Given the description of an element on the screen output the (x, y) to click on. 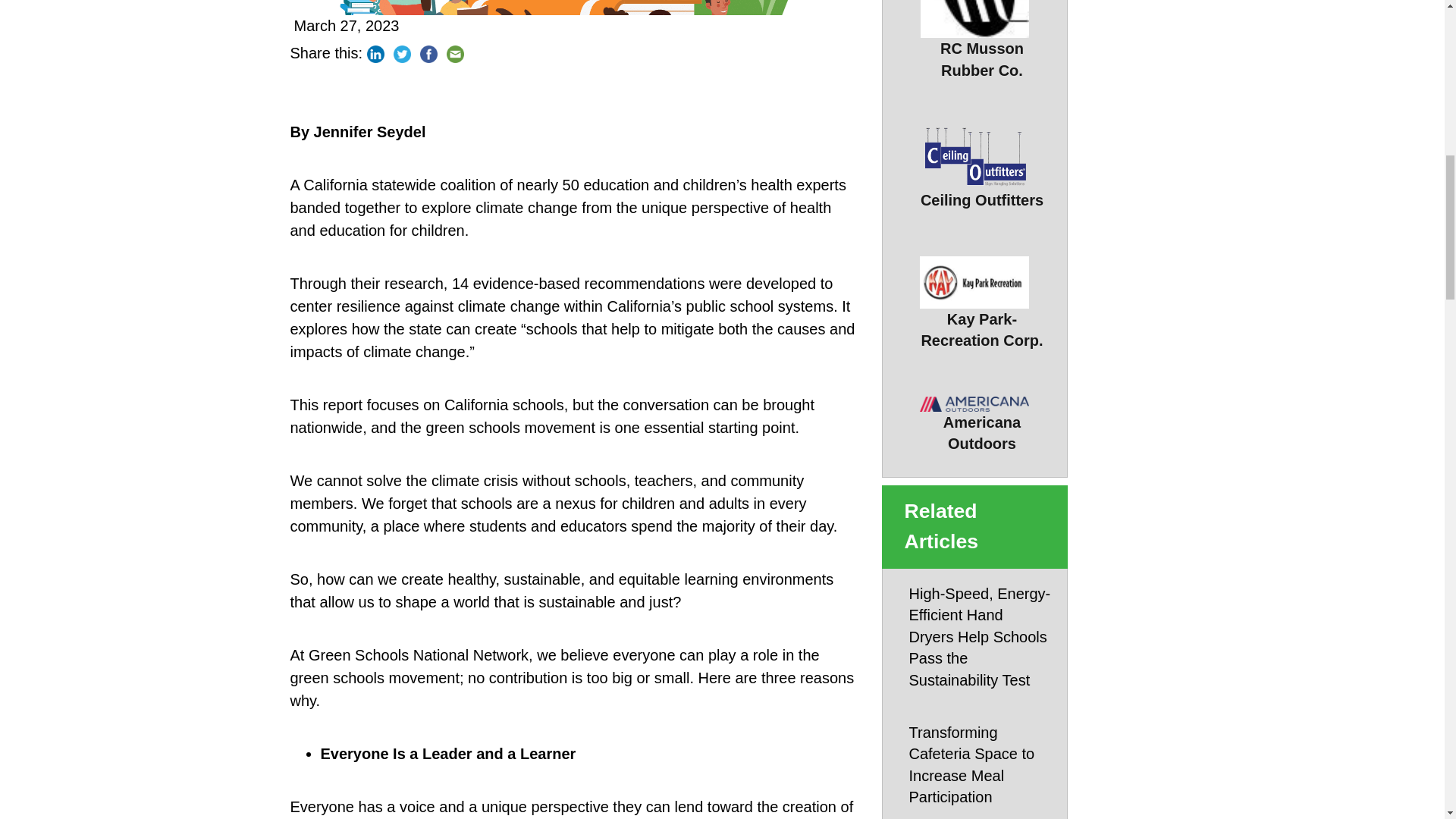
RC Musson Rubber Co. (982, 52)
Email (455, 53)
Linkedin (375, 53)
Transforming Cafeteria Space to Increase Meal Participation (979, 764)
Share this: (325, 52)
Americana Outdoors (982, 425)
Ceiling Outfitters (982, 168)
Kay Park-Recreation Corp. (982, 303)
Twitter (401, 53)
Facebook (428, 53)
